Given the description of an element on the screen output the (x, y) to click on. 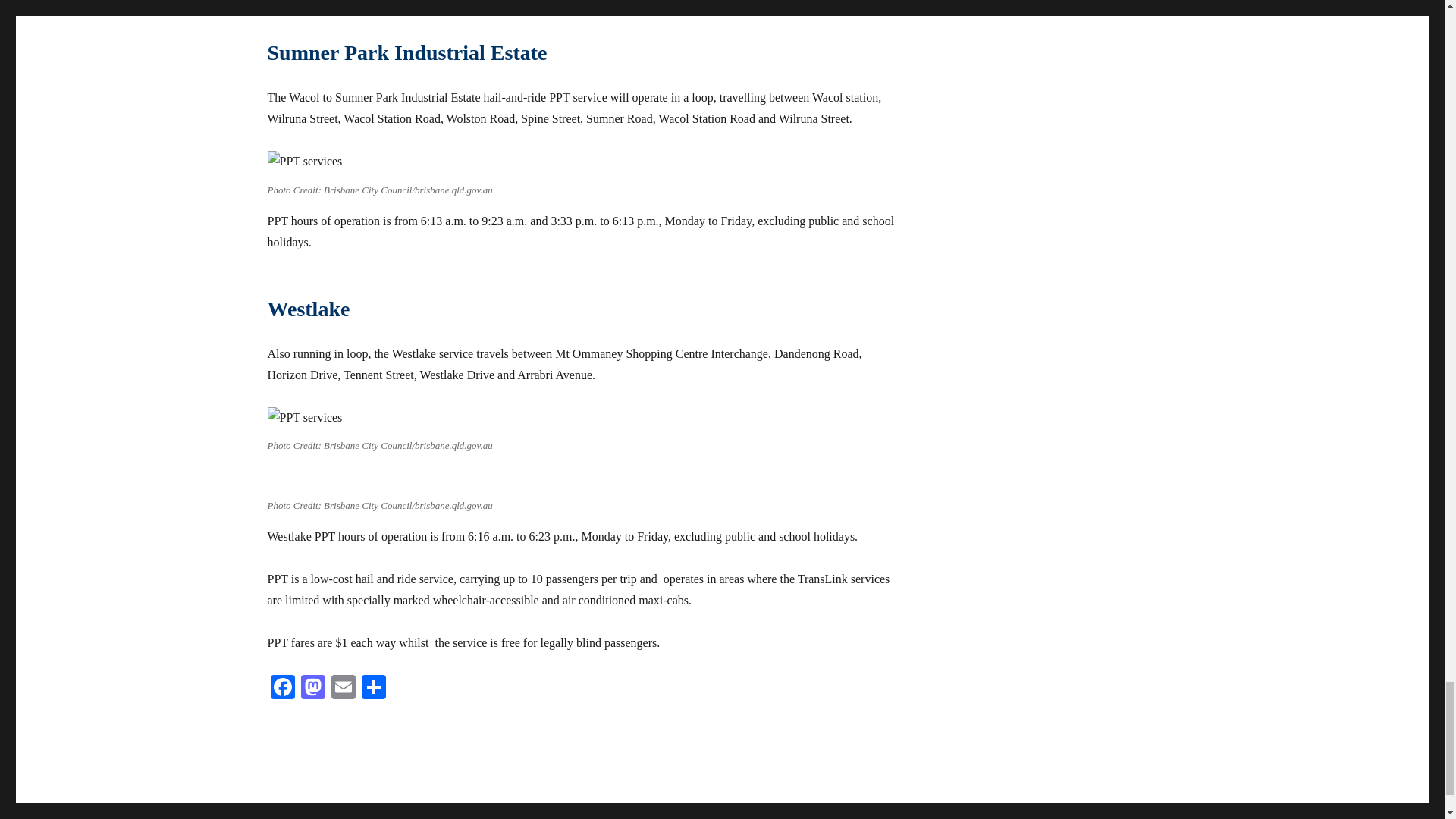
Share (373, 688)
Mastodon (312, 688)
Facebook (281, 688)
Email (342, 688)
Facebook (281, 688)
Email (342, 688)
Mastodon (312, 688)
